Given the description of an element on the screen output the (x, y) to click on. 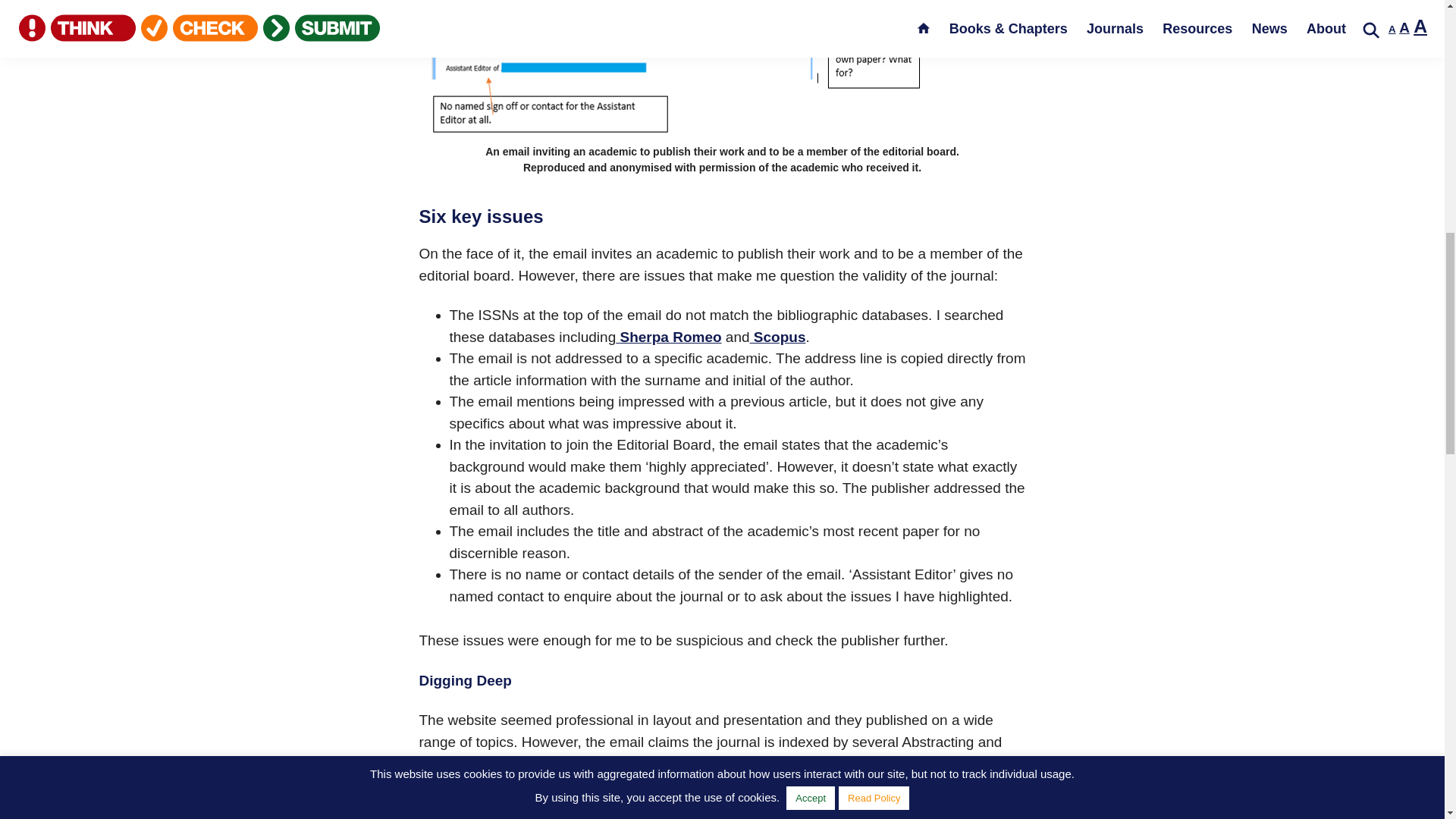
Sherpa Romeo (667, 336)
Scopus (777, 336)
